Given the description of an element on the screen output the (x, y) to click on. 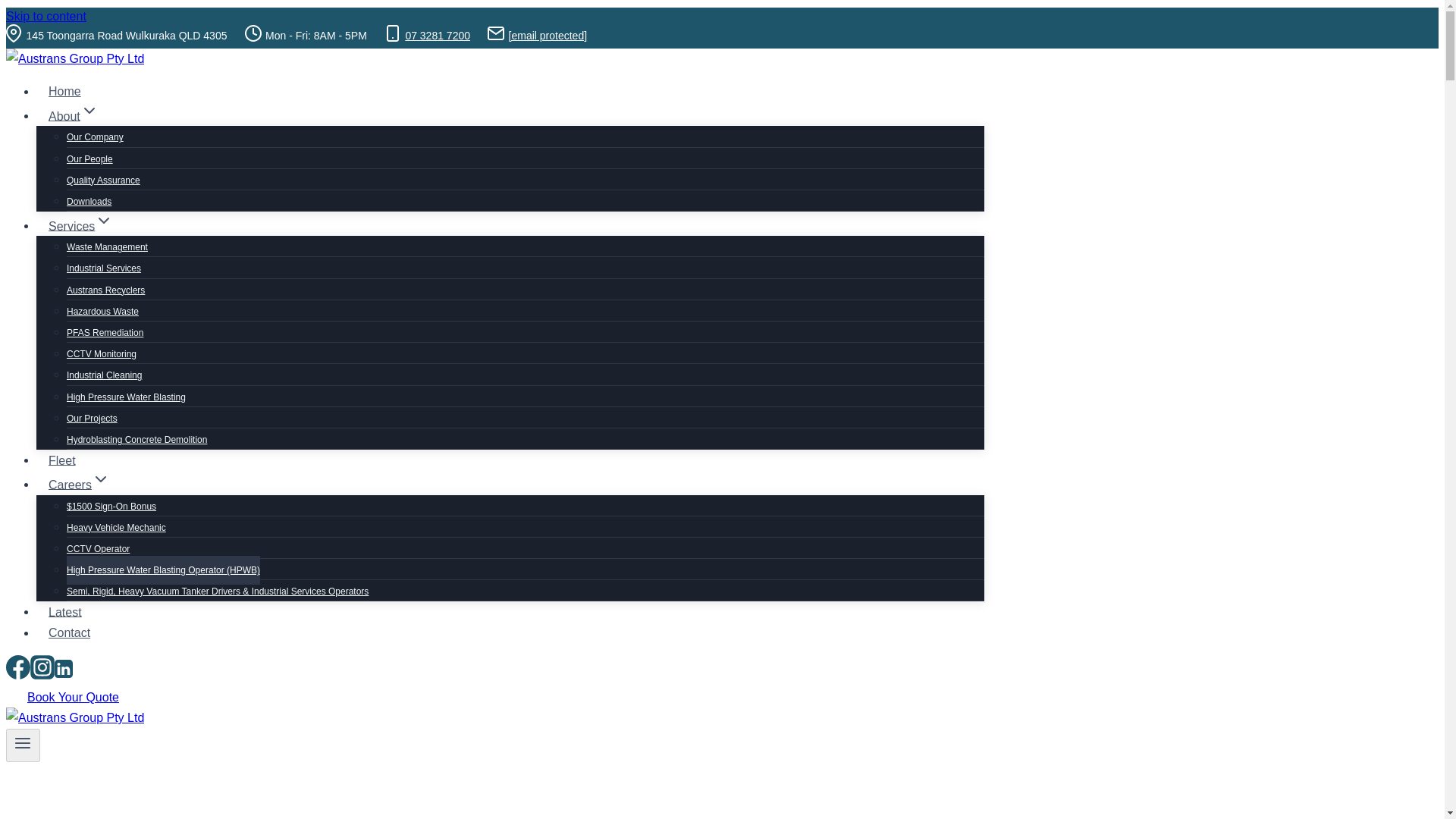
Industrial Cleaning (103, 375)
Toggle Menu (22, 742)
Our People (89, 158)
ServicesExpand (80, 225)
Hours (253, 33)
Skip to content (45, 15)
Hazardous Waste (102, 311)
Heavy Vehicle Mechanic (115, 527)
Location (13, 33)
Facebook (17, 667)
